Given the description of an element on the screen output the (x, y) to click on. 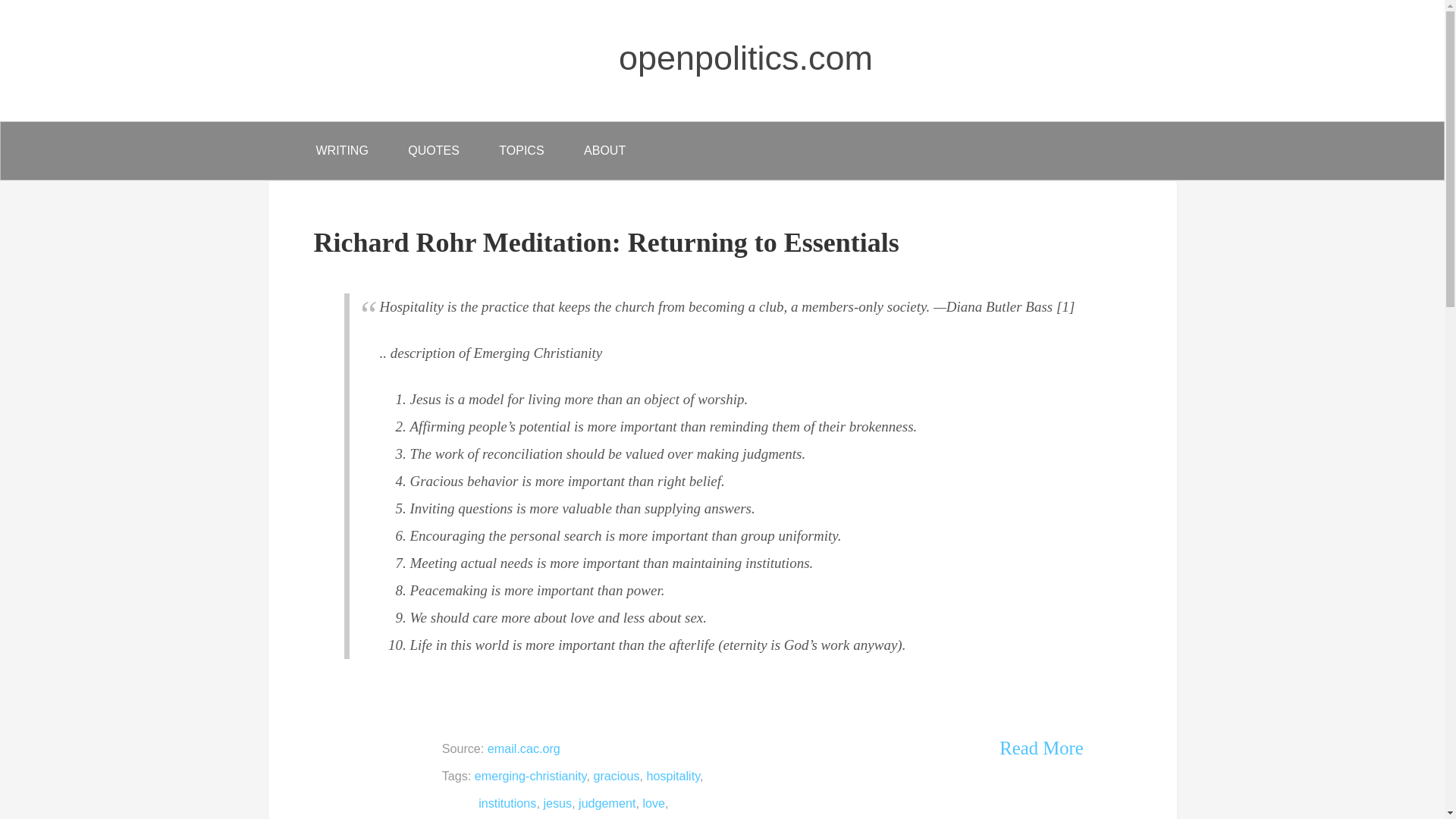
Richard Rohr Meditation: Returning to Essentials (606, 242)
email.cac.org (523, 748)
love (653, 802)
gracious (615, 775)
TOPICS (521, 150)
ABOUT (604, 150)
emerging-christianity (530, 775)
jesus (557, 802)
judgement (606, 802)
WRITING (341, 150)
QUOTES (433, 150)
hospitality (673, 775)
institutions (507, 802)
Read More (1040, 748)
